Given the description of an element on the screen output the (x, y) to click on. 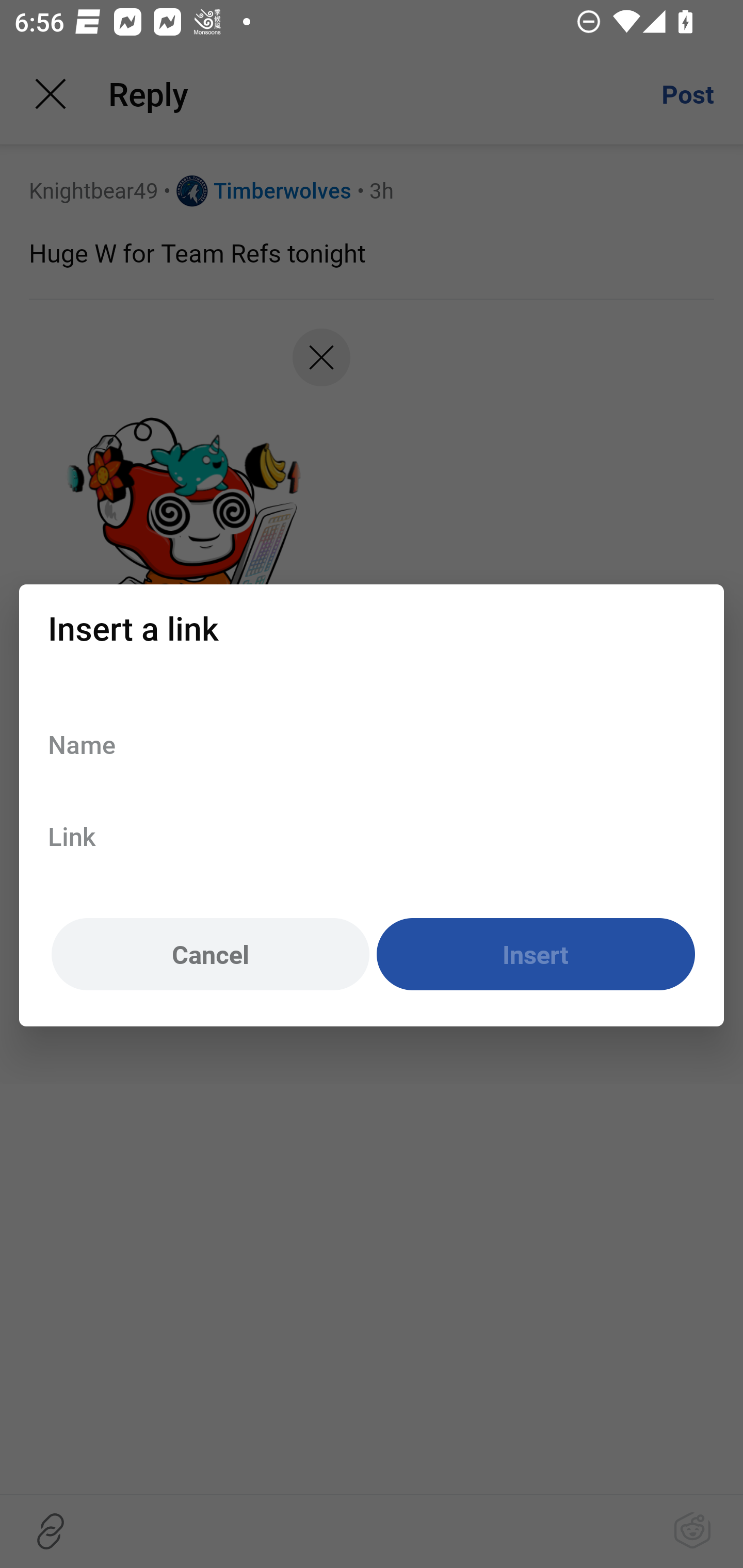
Name (371, 743)
Link (371, 835)
Cancel (210, 954)
Insert (535, 954)
